Given the description of an element on the screen output the (x, y) to click on. 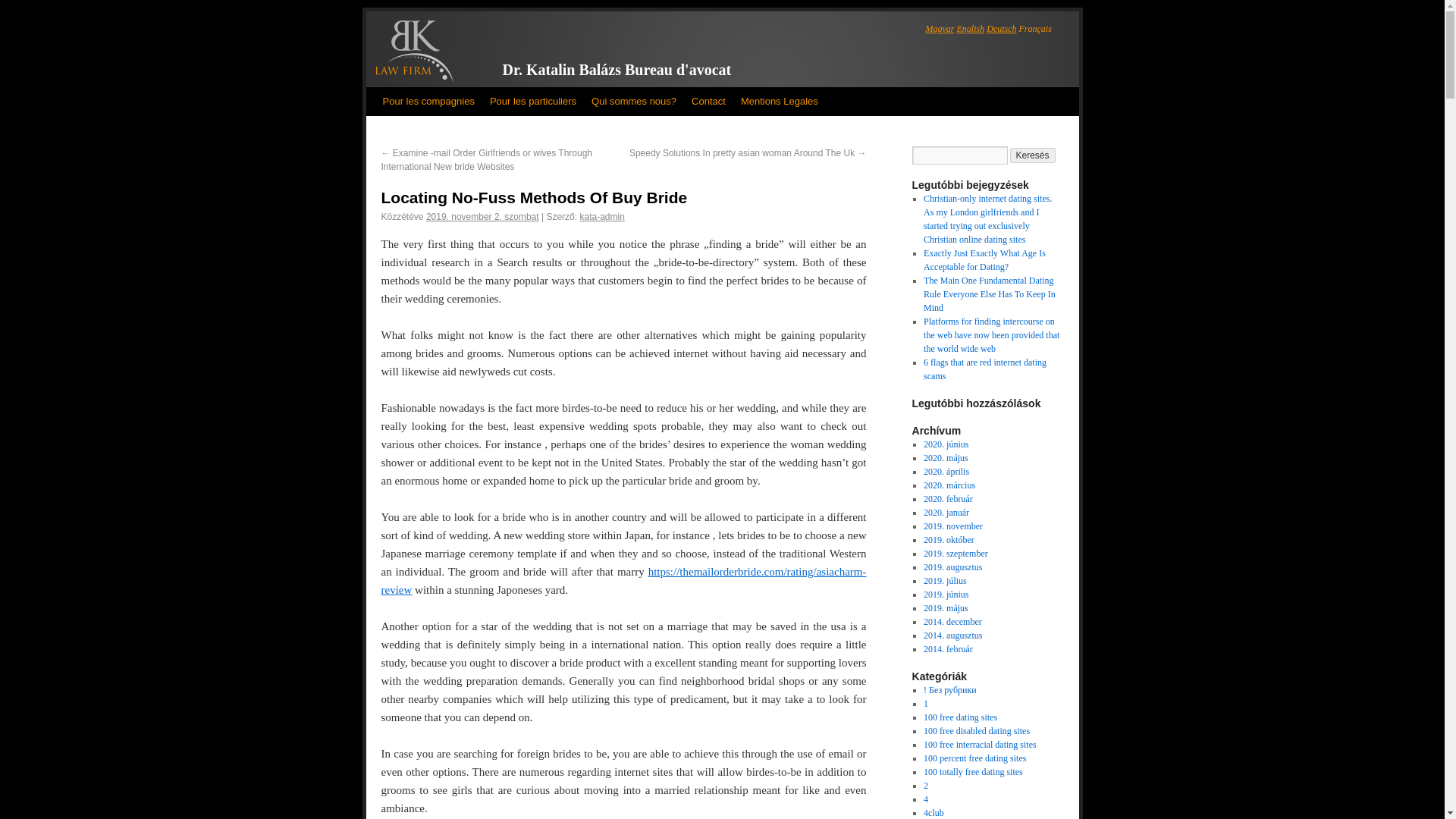
English (970, 28)
00:00 (482, 216)
Mentions Legales (779, 101)
Contact (708, 101)
kata-admin (601, 216)
2019. november 2. szombat (482, 216)
Qui sommes nous? (633, 101)
Magyar (938, 28)
Pour les particuliers (532, 101)
Pour les compagnies (427, 101)
Deutsch (1001, 28)
